Given the description of an element on the screen output the (x, y) to click on. 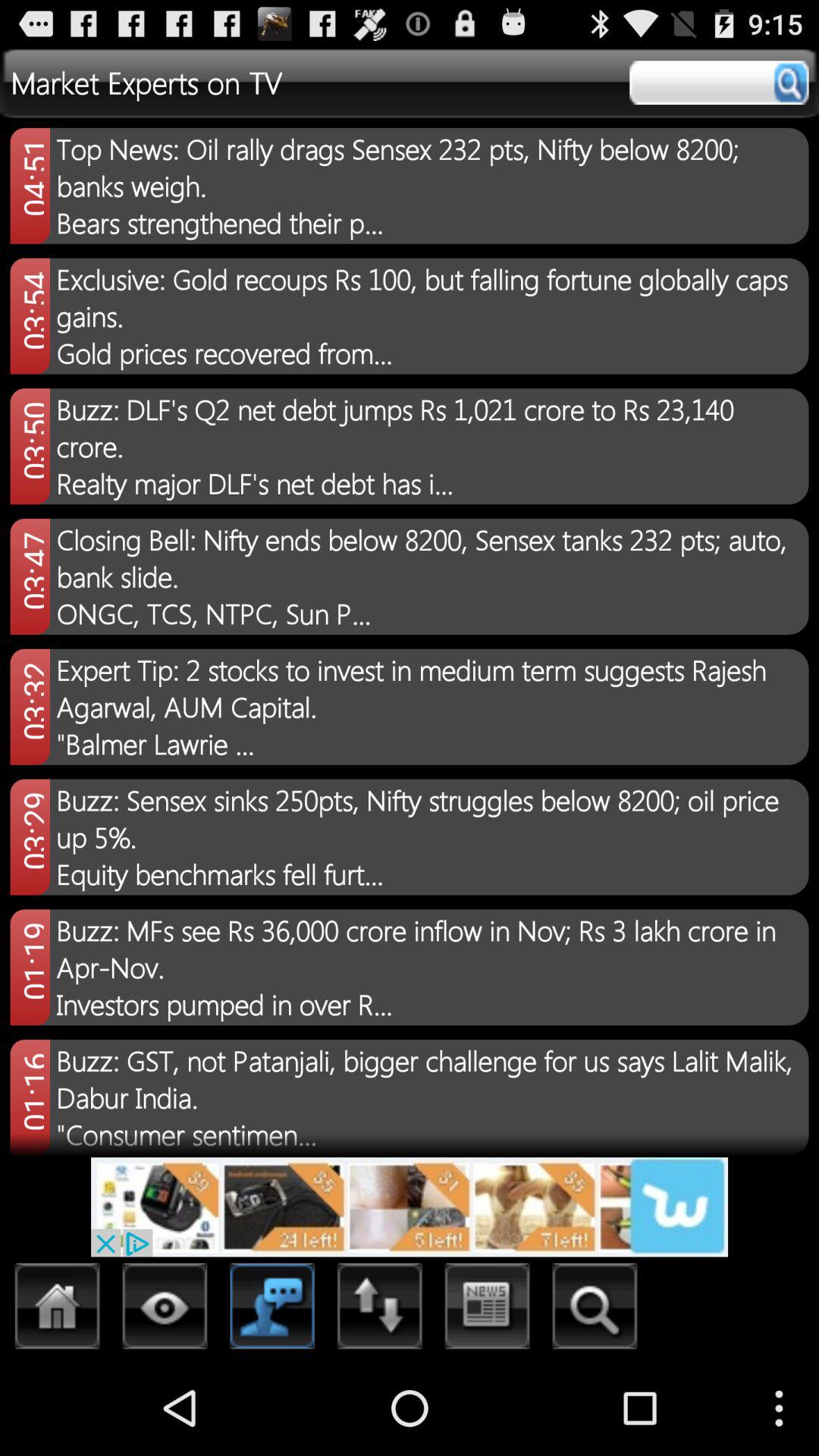
open advertisement (409, 1206)
